Given the description of an element on the screen output the (x, y) to click on. 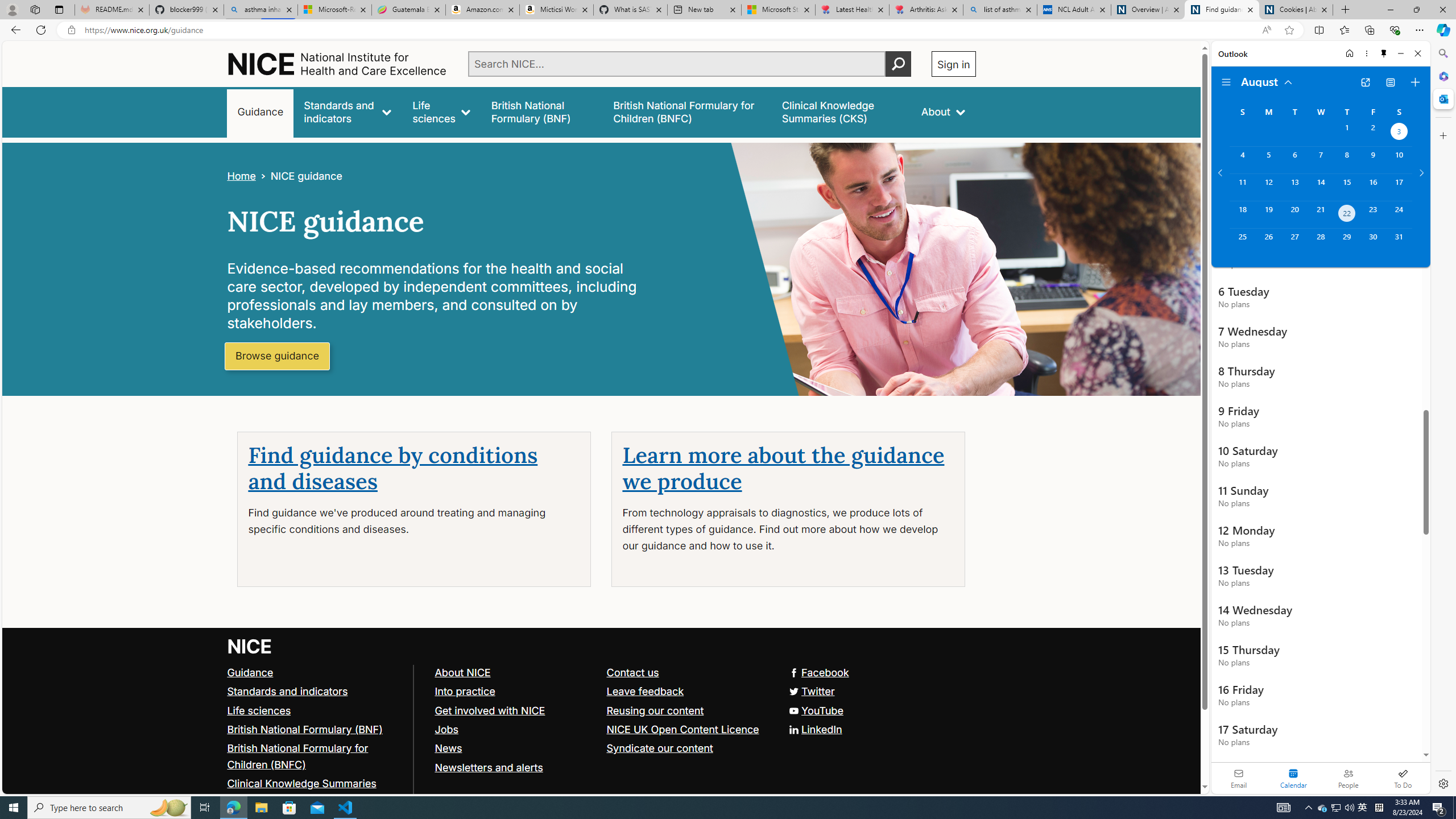
Saturday, August 17, 2024.  (1399, 186)
Facebook (817, 671)
To Do (1402, 777)
Syndicate our content (659, 748)
Monday, August 5, 2024.  (1268, 159)
Reusing our content (686, 710)
asthma inhaler - Search (260, 9)
View site information (70, 29)
About NICE (514, 672)
Collections (1369, 29)
Microsoft 365 (1442, 76)
Thursday, August 1, 2024.  (1346, 132)
